Given the description of an element on the screen output the (x, y) to click on. 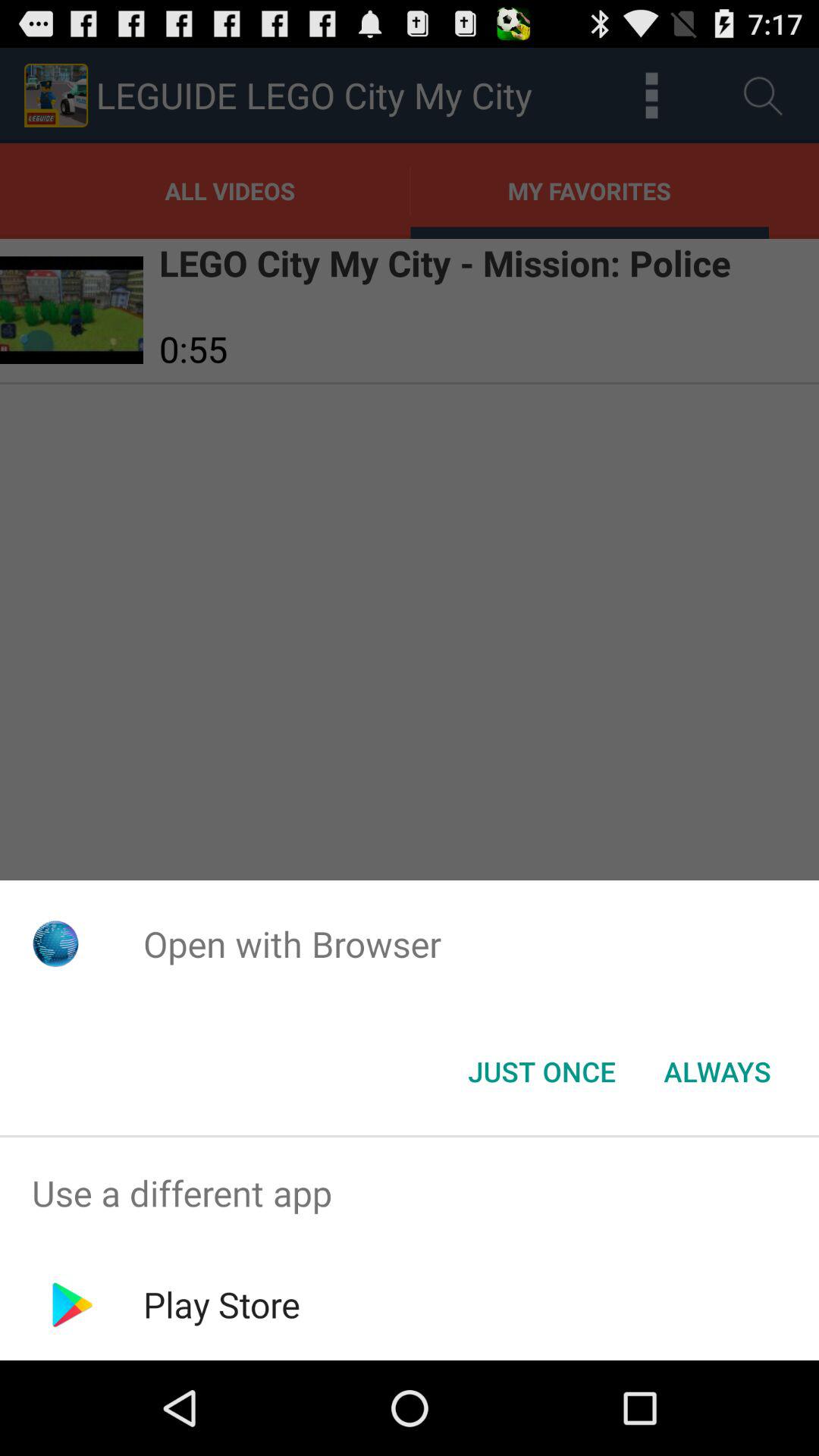
turn on the use a different (409, 1192)
